Given the description of an element on the screen output the (x, y) to click on. 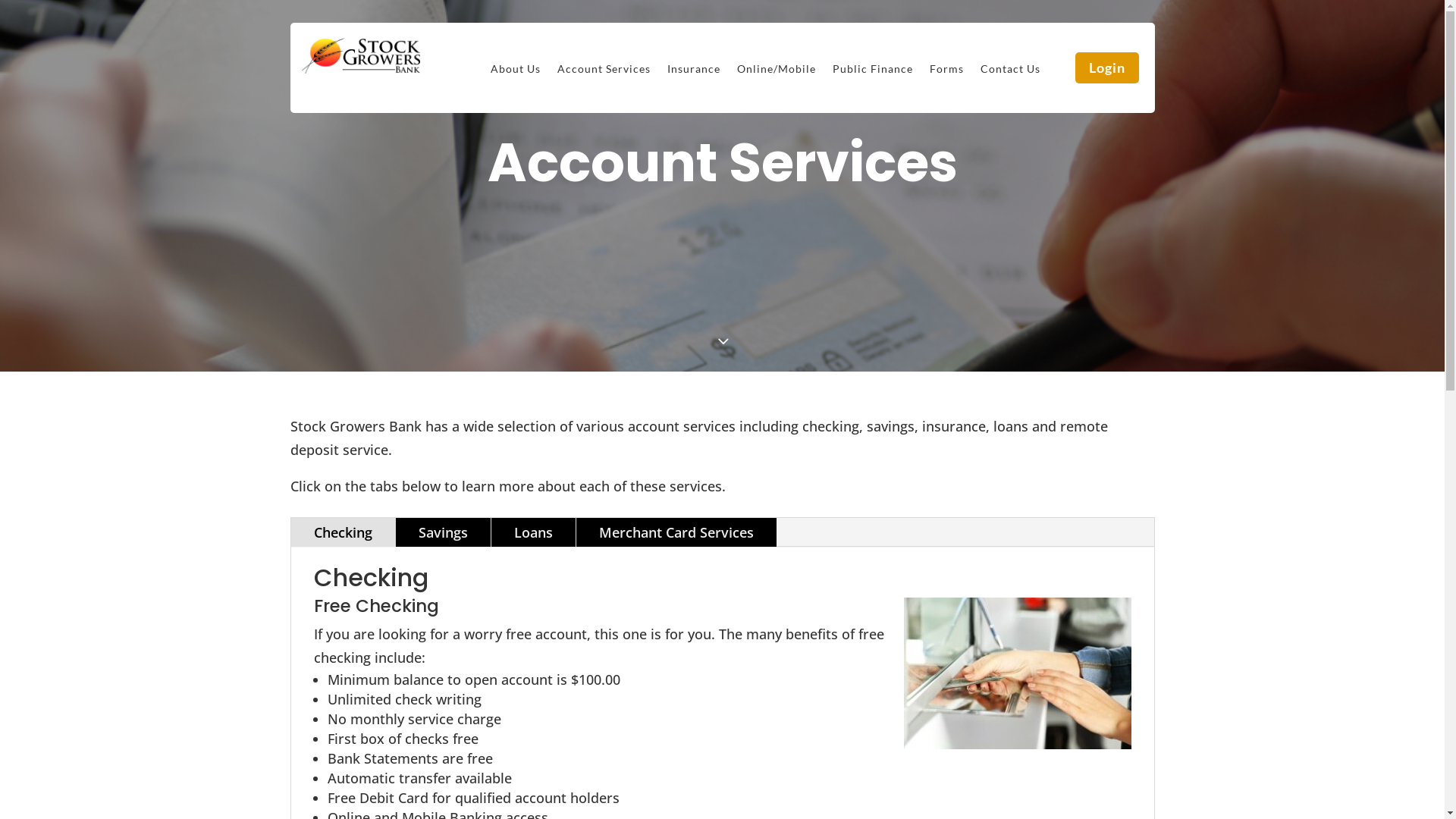
Forms Element type: text (946, 71)
Contact Us Element type: text (1010, 71)
stock-growers-transparent-logo Element type: hover (360, 55)
Account Services Element type: text (603, 71)
Online/Mobile Element type: text (776, 71)
Insurance Element type: text (693, 71)
Loans Element type: text (533, 532)
About Us Element type: text (515, 71)
Merchant Card Services Element type: text (676, 532)
3 Element type: text (721, 342)
Checking Element type: text (343, 532)
Savings Element type: text (442, 532)
Login Element type: text (1107, 67)
Public Finance Element type: text (872, 71)
